Given the description of an element on the screen output the (x, y) to click on. 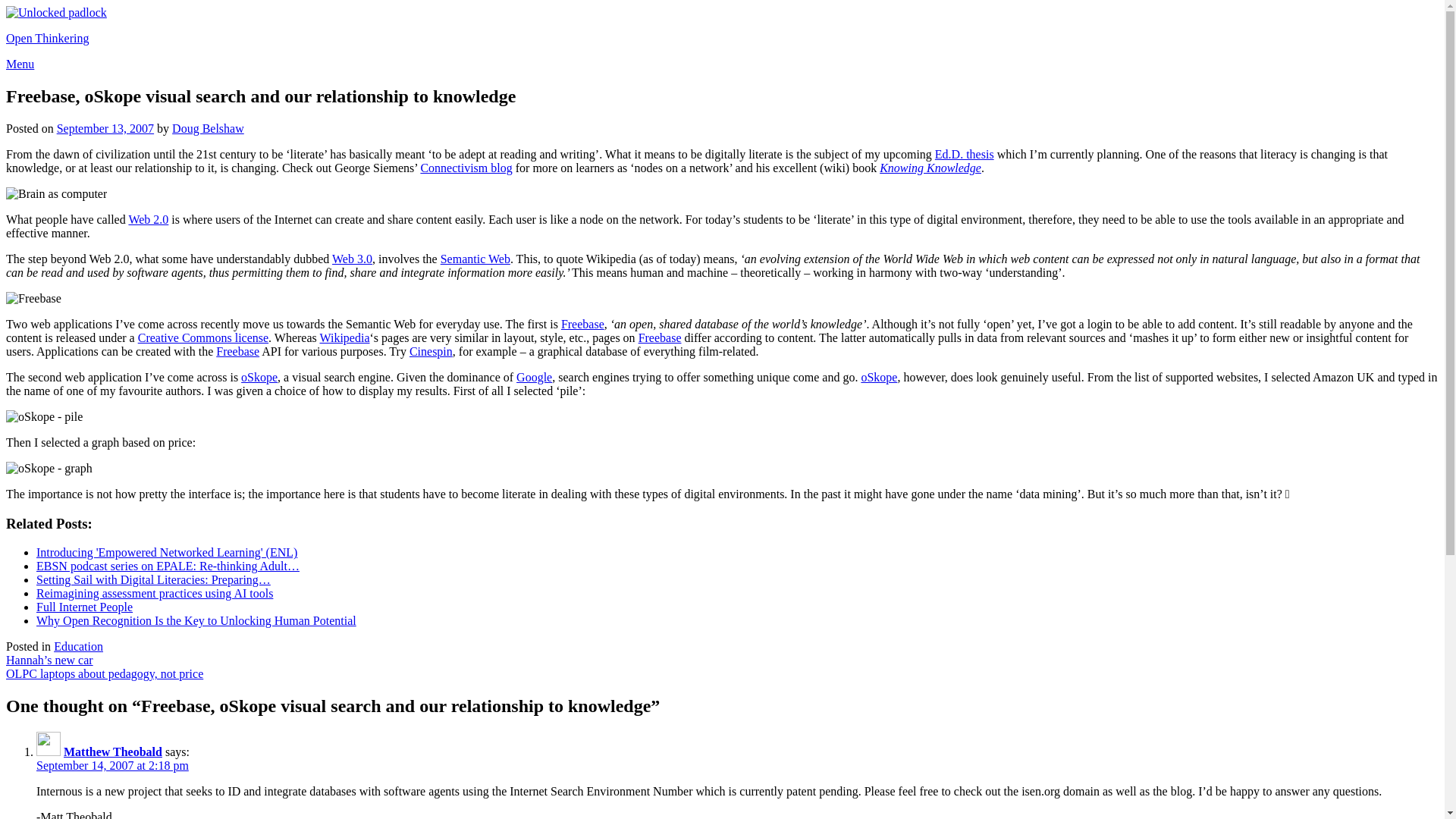
oSkope (878, 377)
Creative Commons license (202, 337)
Open Thinkering (46, 38)
Cinespin (430, 350)
Knowing Knowledge (930, 167)
Why Open Recognition Is the Key to Unlocking Human Potential (196, 620)
OLPC laptops about pedagogy, not price (104, 673)
Doug Belshaw (207, 128)
Web 3.0 (351, 258)
Freebase (237, 350)
